Given the description of an element on the screen output the (x, y) to click on. 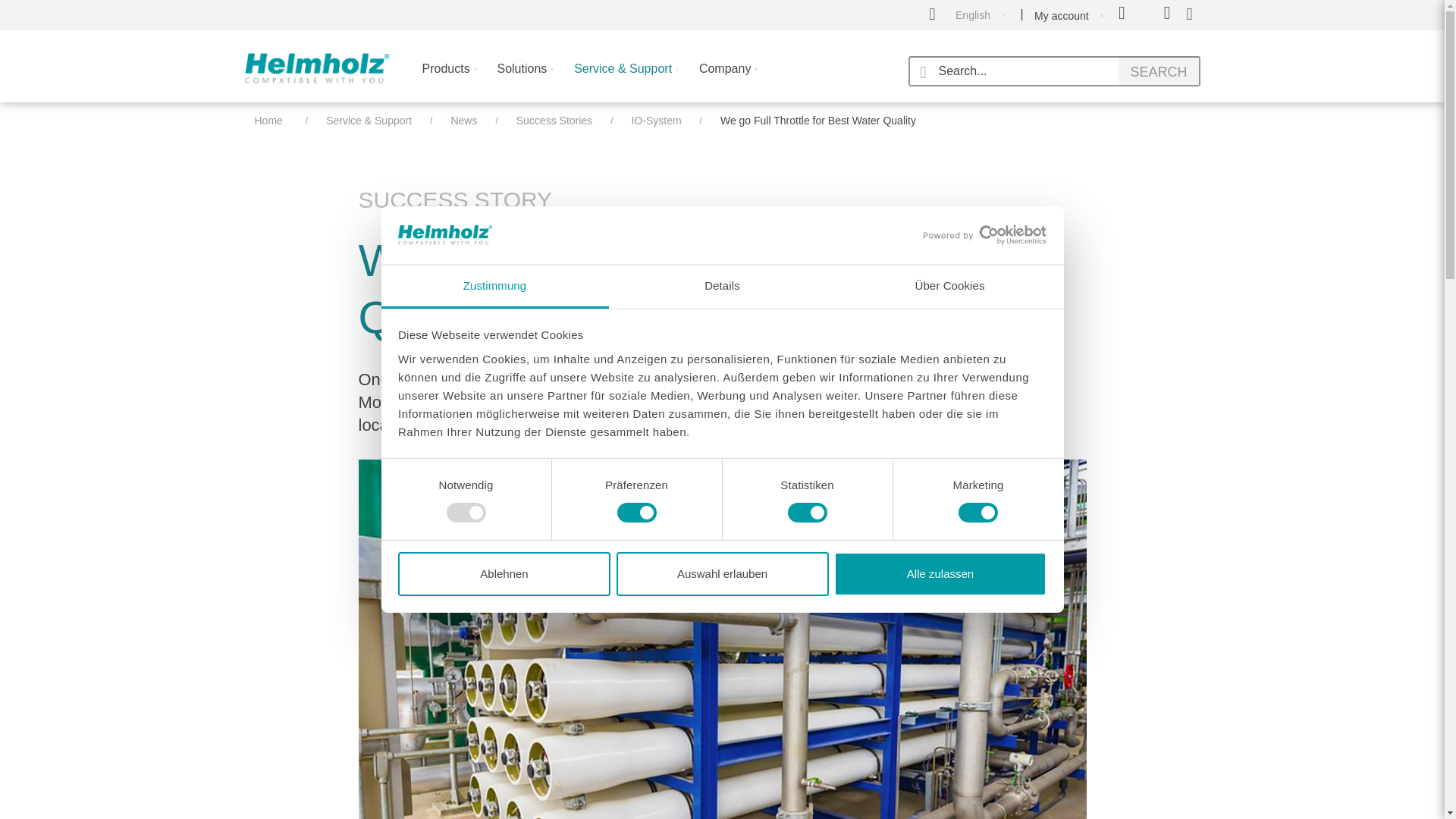
Products (448, 79)
Auswahl erlauben (721, 574)
Details (721, 286)
Products (448, 79)
Alle zulassen (940, 574)
Company (727, 79)
Helmholz - Switch to homepage (316, 68)
Solutions (524, 79)
My account (1079, 15)
Zustimmung (494, 286)
Ablehnen (503, 574)
